Given the description of an element on the screen output the (x, y) to click on. 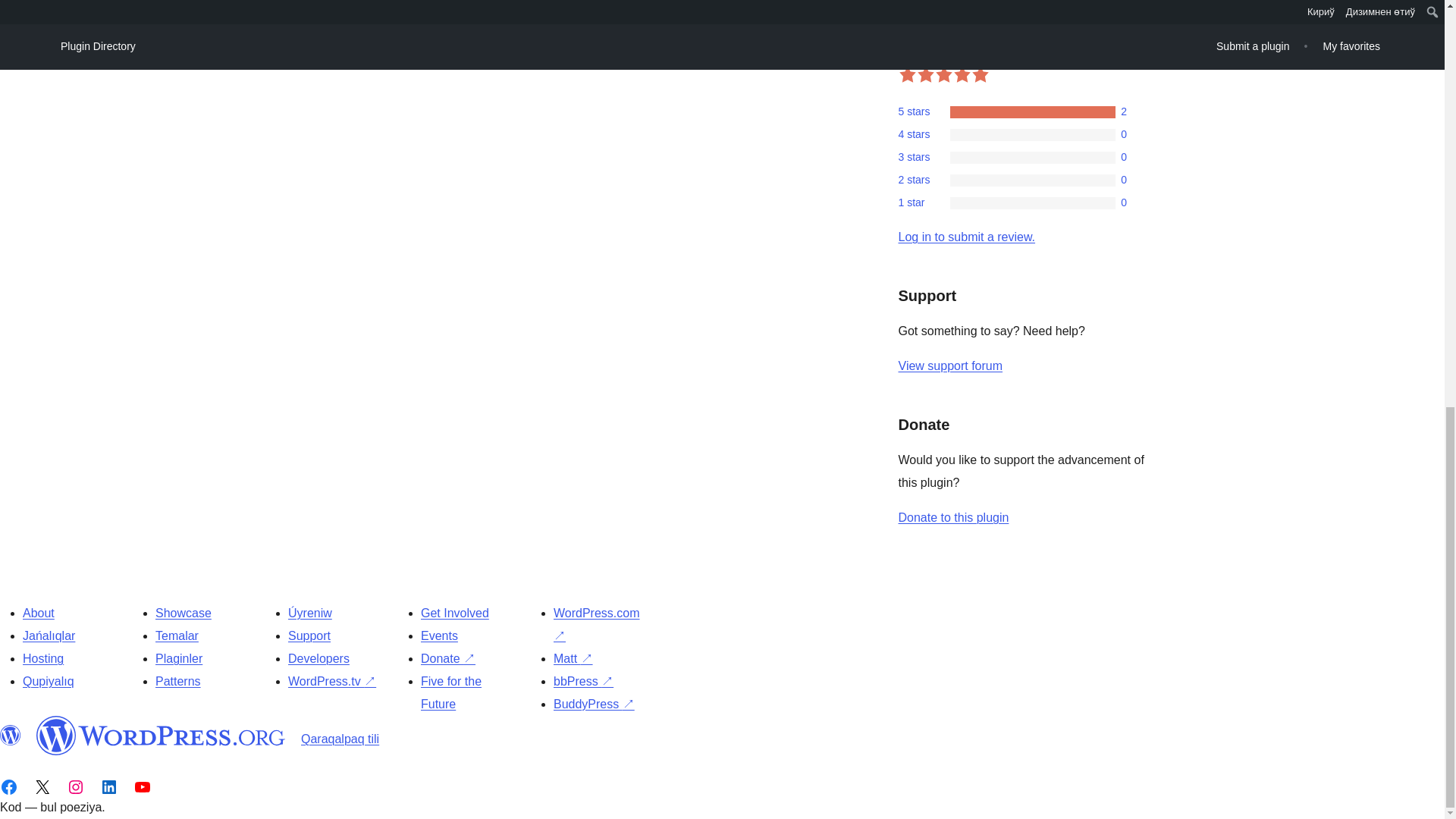
Log in to WordPress.org (966, 236)
WordPress.org (10, 735)
WordPress.org (160, 735)
